Given the description of an element on the screen output the (x, y) to click on. 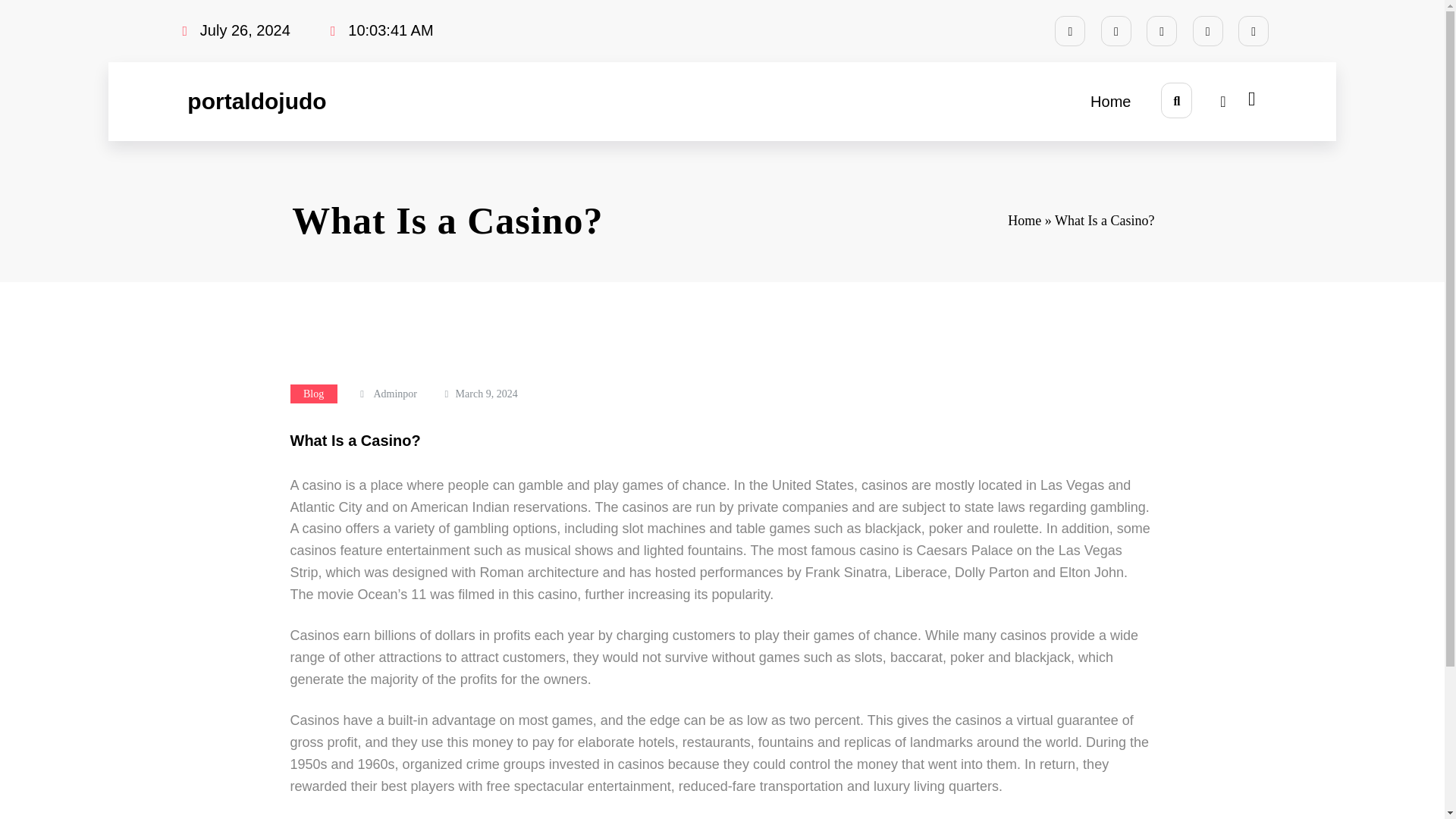
portaldojudo (256, 100)
Home (1110, 101)
Home (1024, 220)
March 9, 2024 (486, 393)
Adminpor (394, 393)
Home (1110, 101)
Blog (312, 393)
